Given the description of an element on the screen output the (x, y) to click on. 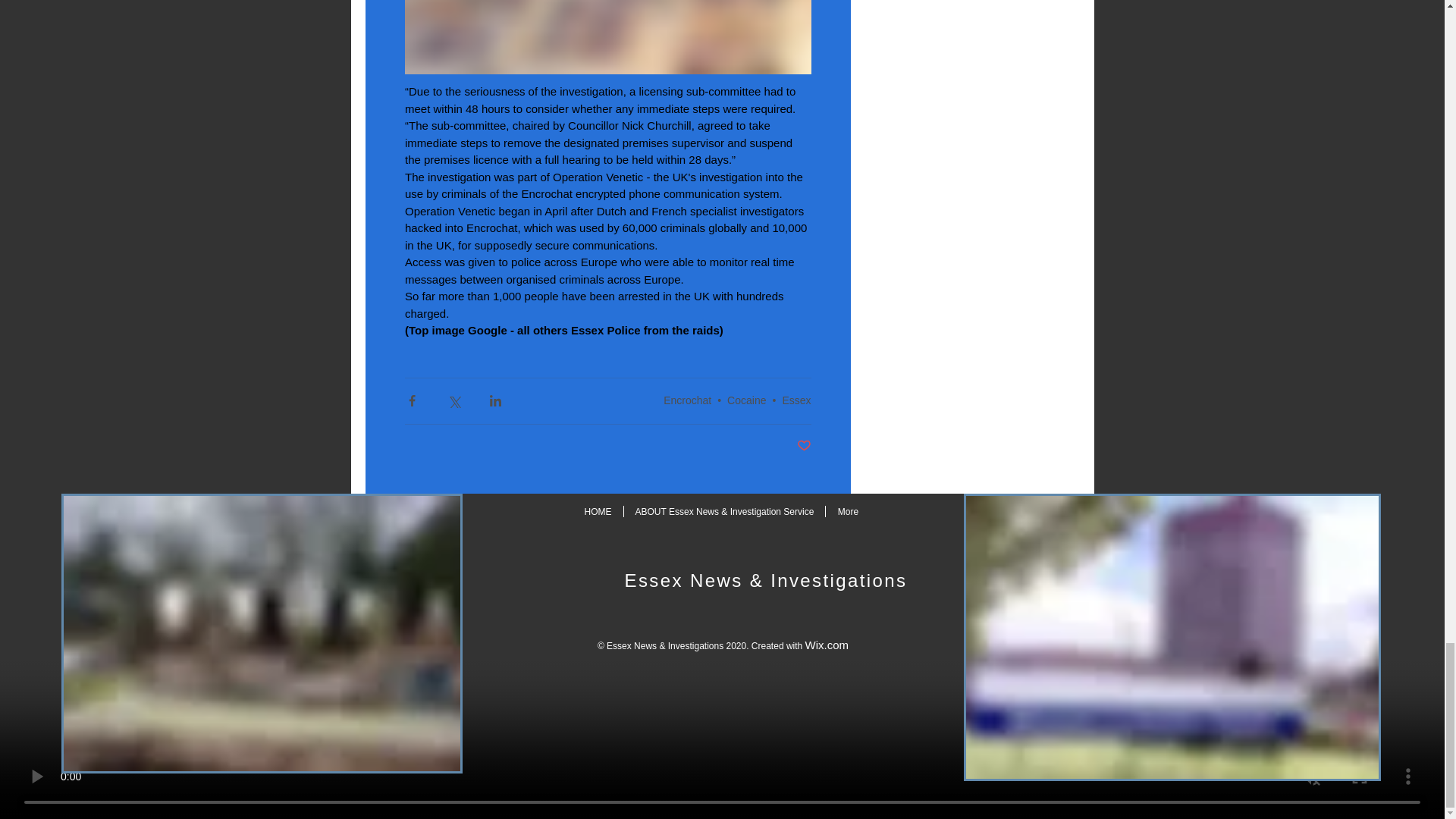
Encrochat (687, 399)
Cocaine (745, 399)
Essex (795, 399)
Wix.com (826, 644)
Post not marked as liked (803, 446)
HOME (598, 511)
